Given the description of an element on the screen output the (x, y) to click on. 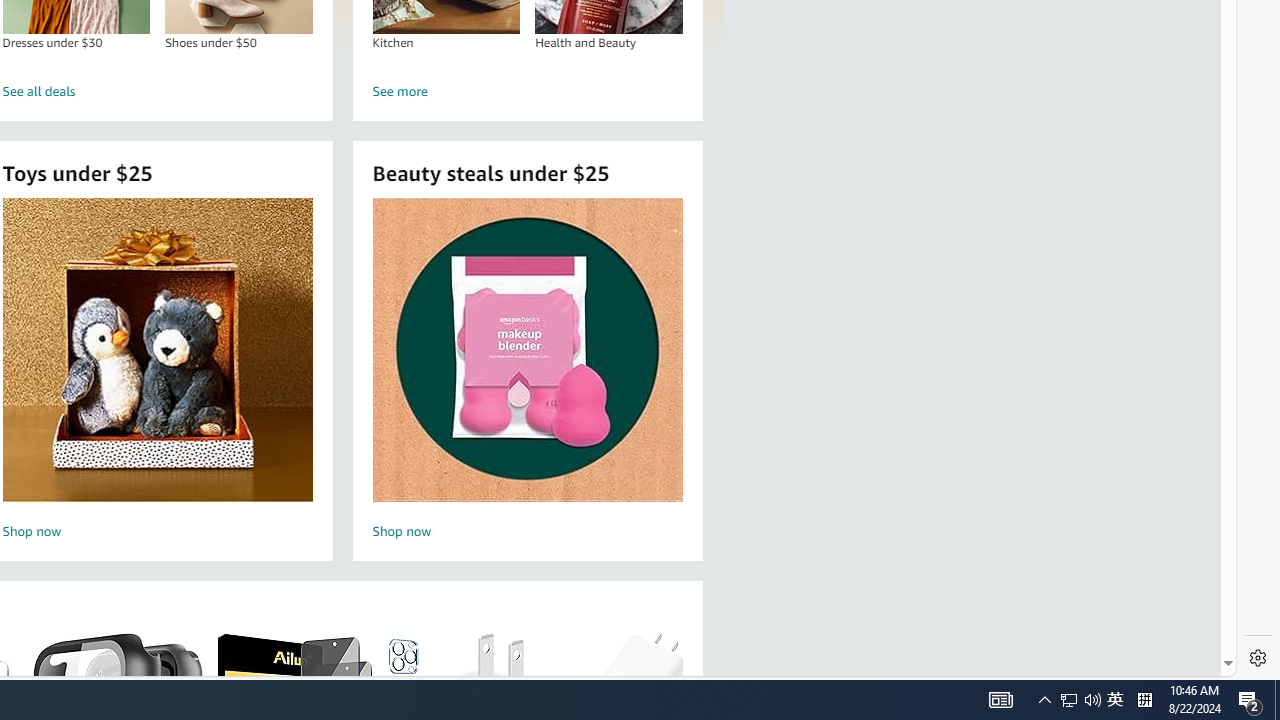
Beauty steals under $25 (526, 349)
